Given the description of an element on the screen output the (x, y) to click on. 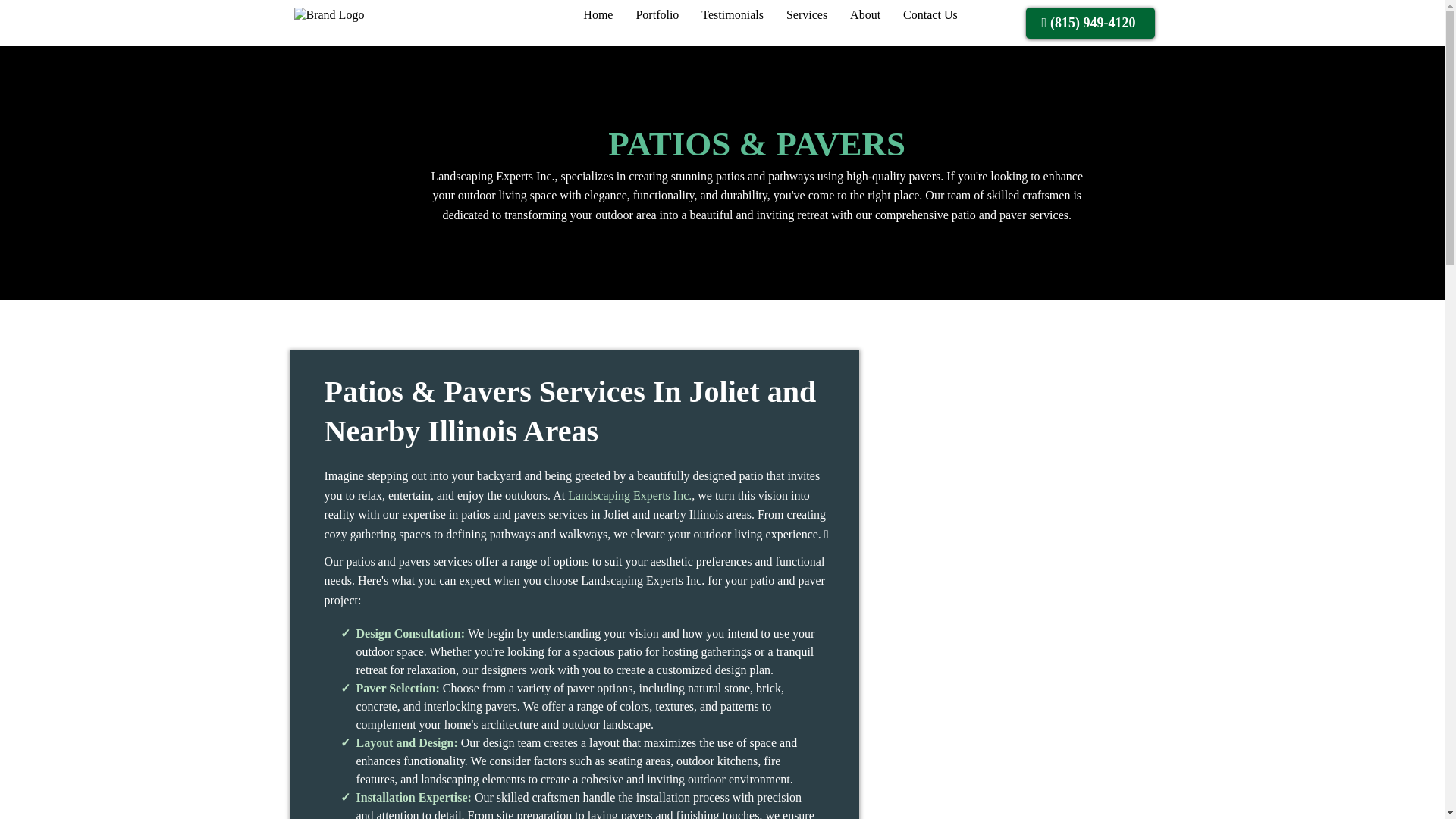
Landscaping Experts Inc. (629, 495)
About (864, 15)
Home (598, 15)
Contact Us (930, 15)
Services (806, 15)
Testimonials (732, 15)
Portfolio (657, 15)
